Given the description of an element on the screen output the (x, y) to click on. 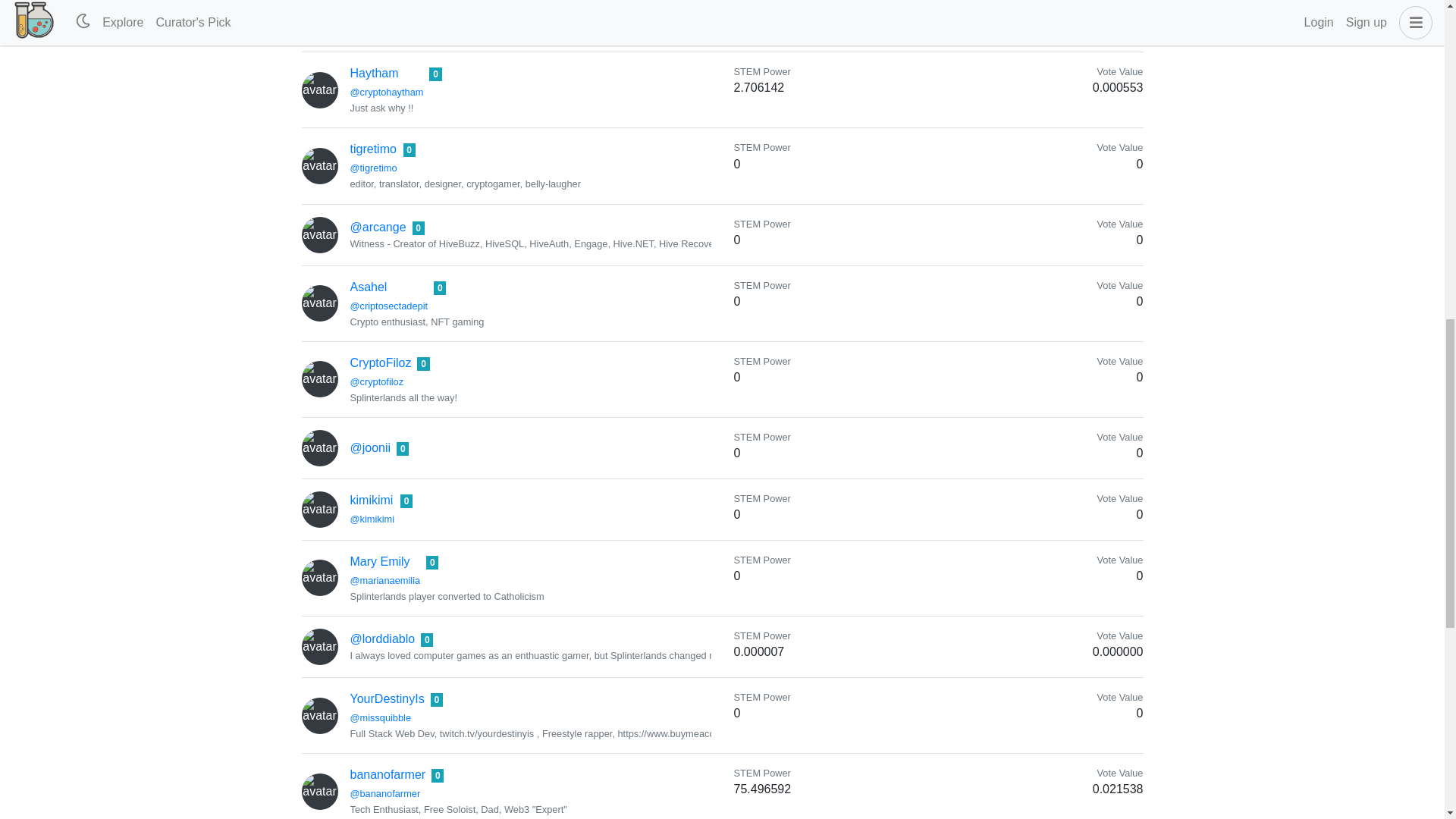
Haytham (374, 72)
CryptoFiloz (381, 362)
tigretimo (373, 148)
Asahel (368, 286)
